Given the description of an element on the screen output the (x, y) to click on. 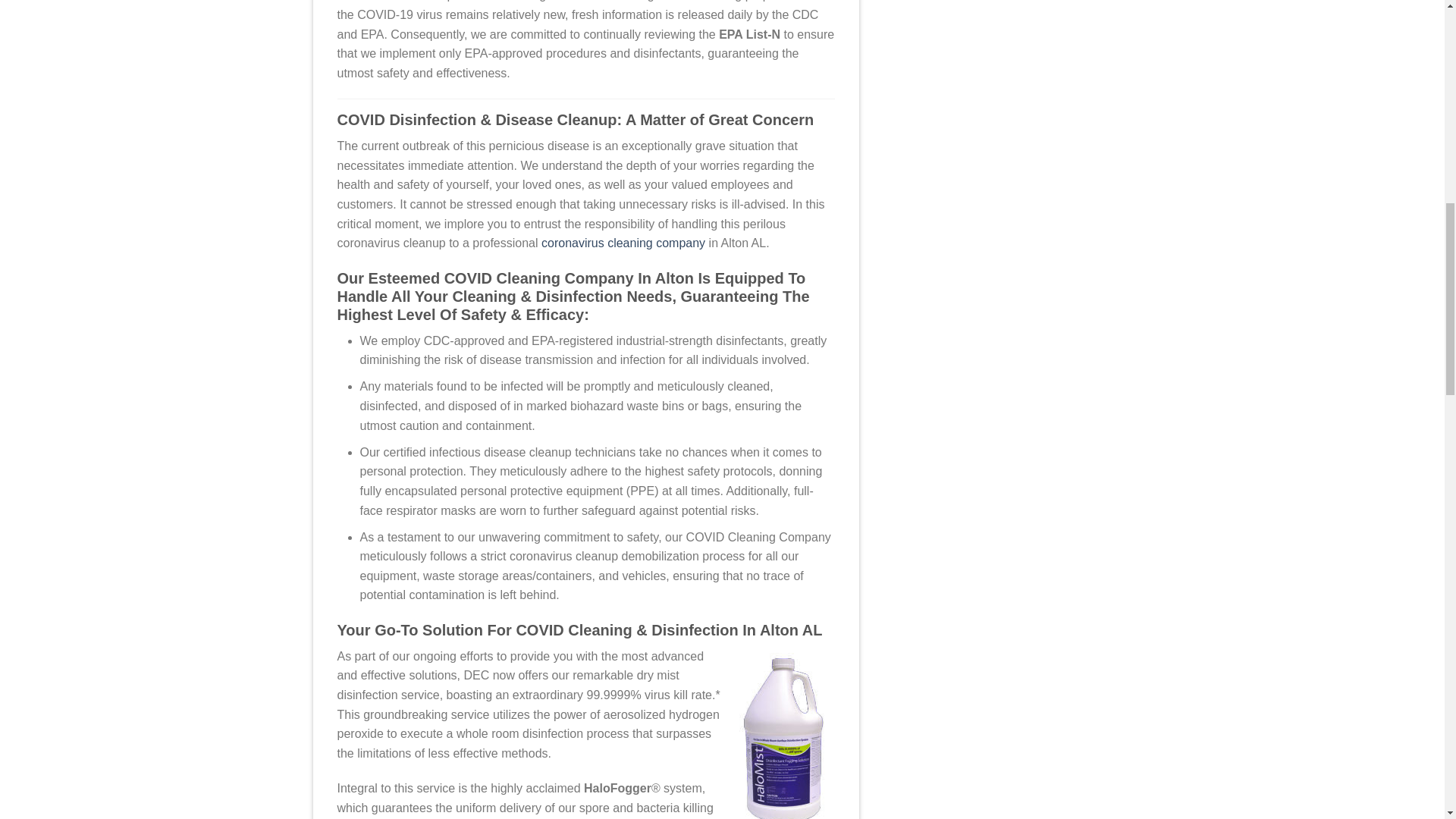
coronavirus cleaning company (622, 242)
